Given the description of an element on the screen output the (x, y) to click on. 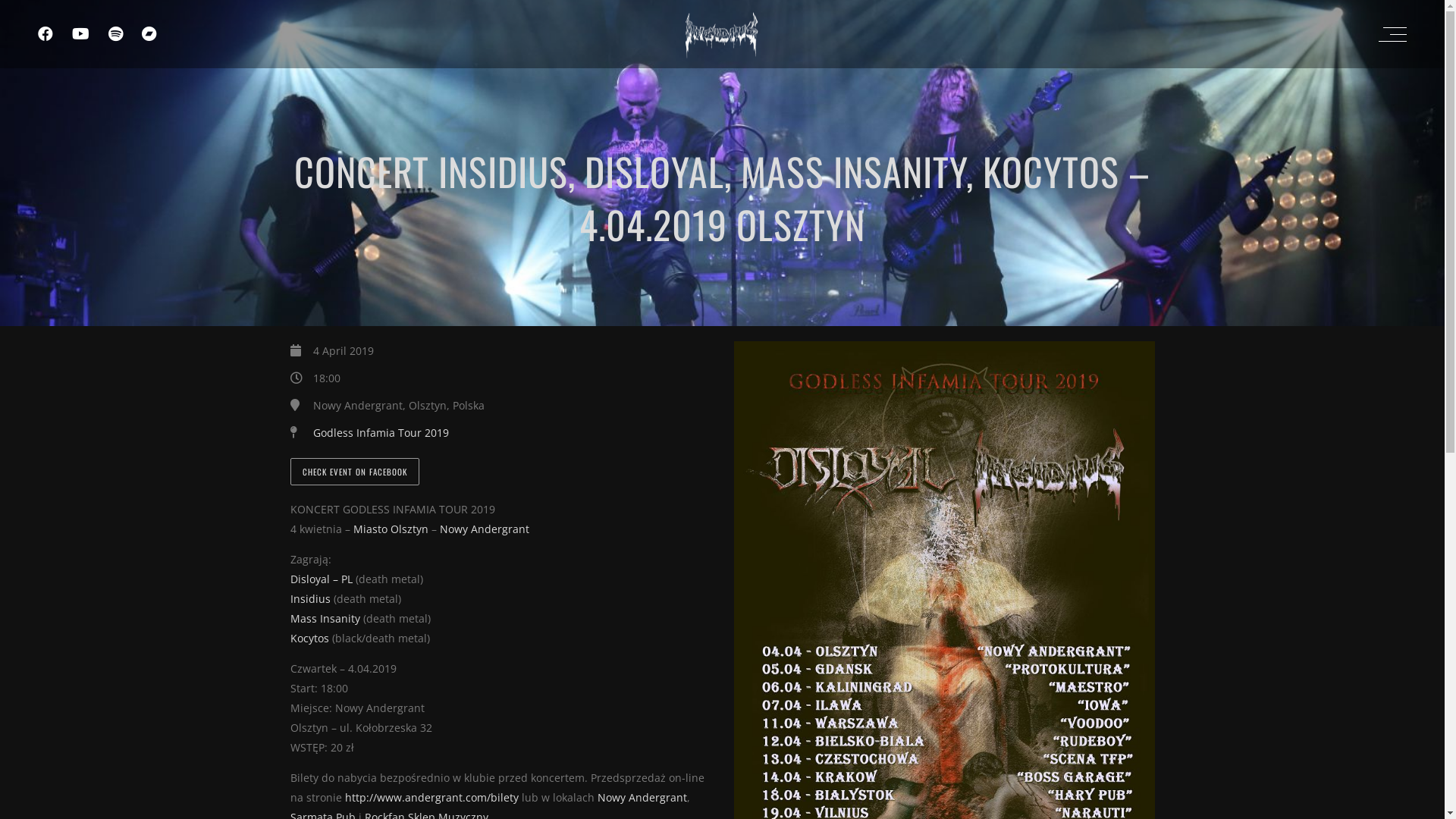
Mass Insanity Element type: text (324, 618)
CHECK EVENT ON FACEBOOK Element type: text (353, 471)
Godless Infamia Tour 2019 Element type: text (380, 432)
Insidius Element type: text (309, 598)
Miasto Olsztyn Element type: text (390, 528)
http://www.andergrant.com/bilety Element type: text (430, 797)
Nowy Andergrant Element type: text (642, 797)
Kocytos Element type: text (308, 637)
Nowy Andergrant Element type: text (484, 528)
